Given the description of an element on the screen output the (x, y) to click on. 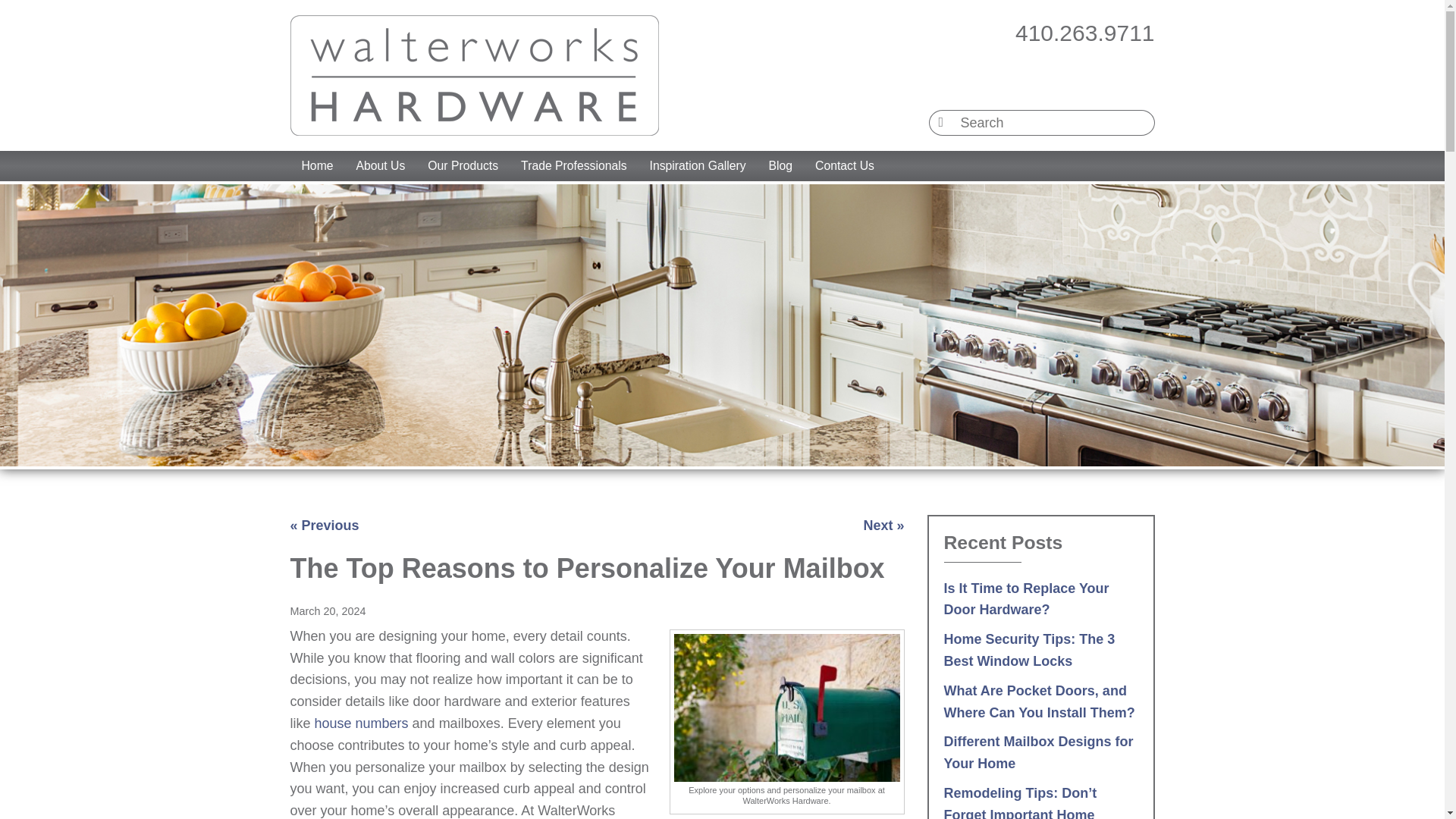
Inspiration Gallery (698, 165)
410.263.9711 (1084, 32)
Home Security Tips: The 3 Best Window Locks (1029, 650)
house numbers (361, 723)
Is It Time to Replace Your Door Hardware? (1025, 599)
Home (316, 165)
Contact Us (844, 165)
Trade Professionals (573, 165)
Blog (781, 165)
WalterWorks Hardware (473, 75)
walterworks hardware personalize your mailbox (785, 707)
Our Products (462, 165)
About Us (380, 165)
